Given the description of an element on the screen output the (x, y) to click on. 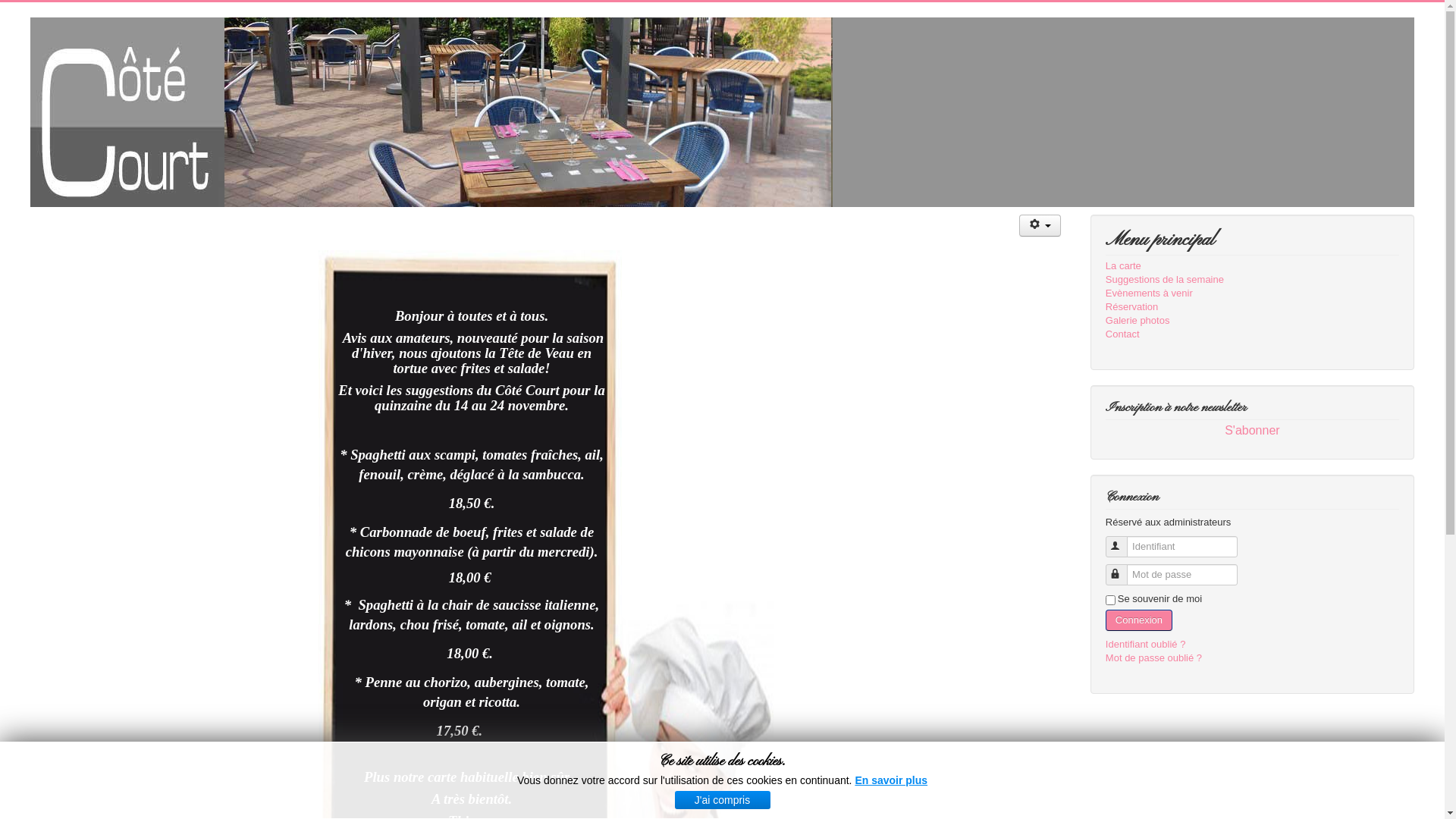
Contact Element type: text (1252, 334)
Suggestions de la semaine Element type: text (1252, 279)
Connexion Element type: text (1138, 619)
S'abonner Element type: text (1252, 430)
La carte Element type: text (1252, 266)
Galerie photos Element type: text (1252, 320)
